Given the description of an element on the screen output the (x, y) to click on. 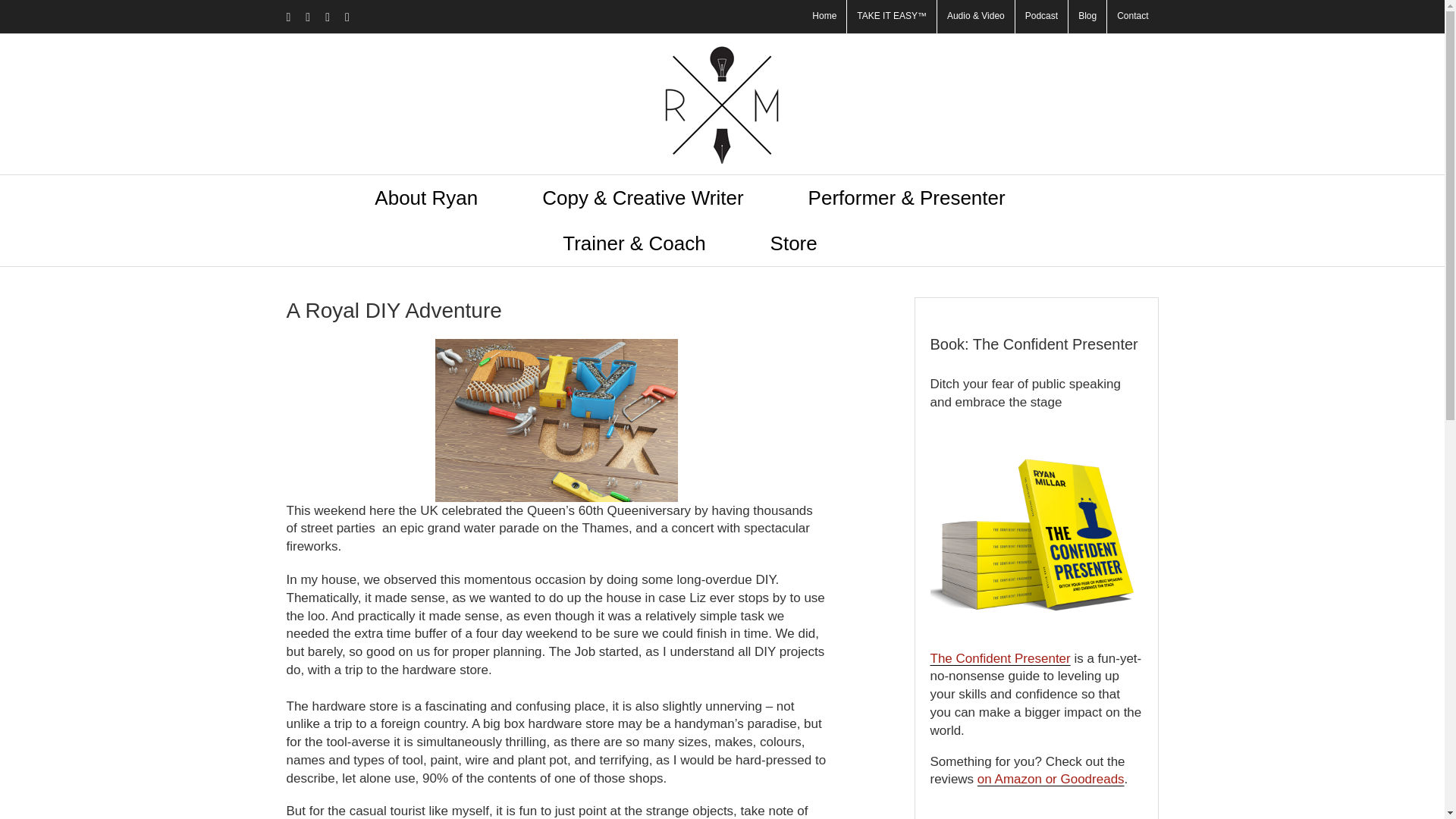
on Amazon or Goodreads (1050, 779)
Blog (1087, 16)
Podcast (1040, 16)
Contact (1131, 16)
Home (823, 16)
The Confident Presenter (1000, 658)
About Ryan (425, 197)
Store (793, 243)
